Given the description of an element on the screen output the (x, y) to click on. 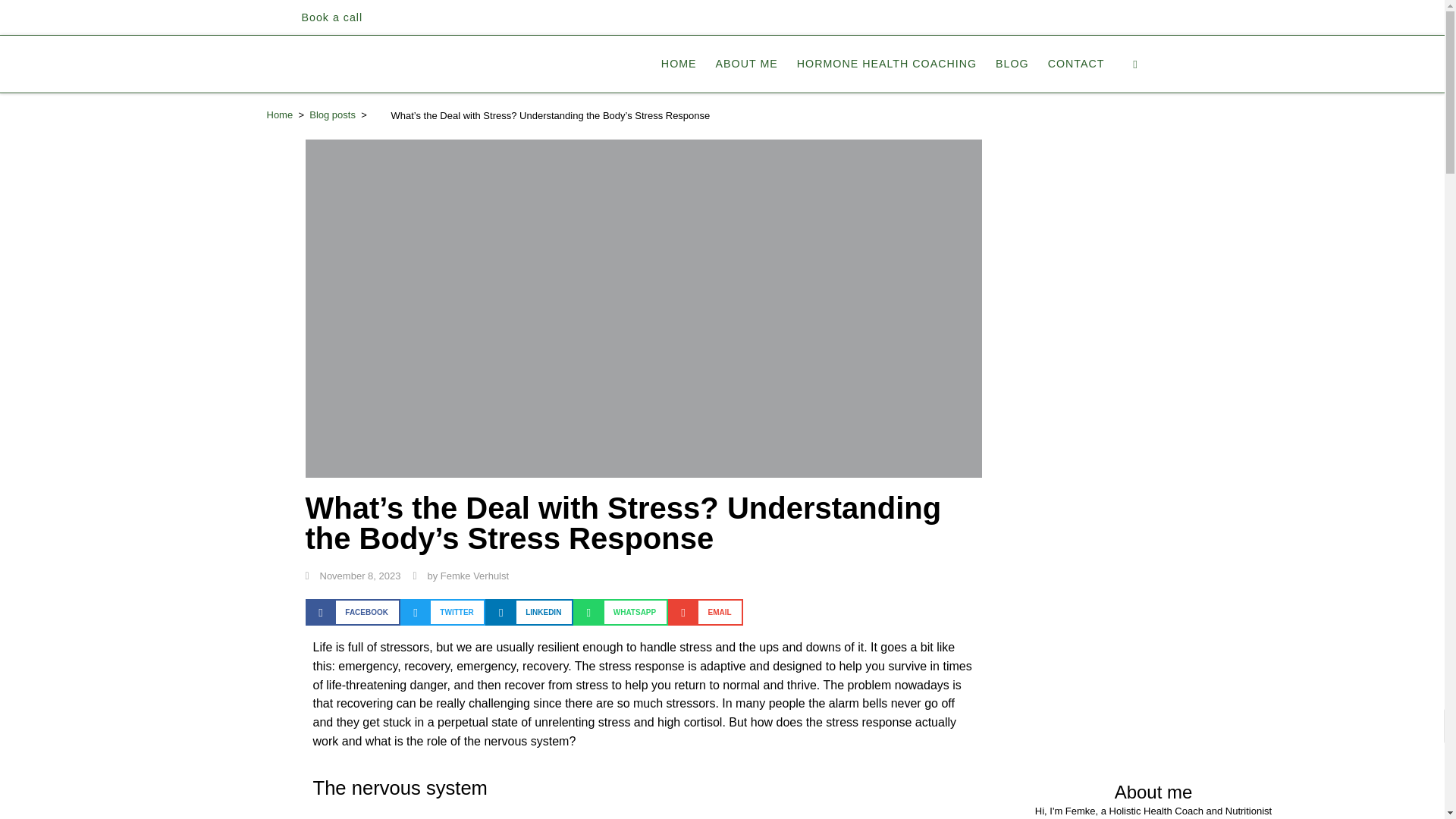
HORMONE HEALTH COACHING (886, 63)
Blog posts (331, 114)
Book a call (332, 17)
CONTACT (1075, 63)
November 8, 2023 (352, 575)
HOME (678, 63)
ABOUT ME (746, 63)
BLOG (1012, 63)
Skip to content (60, 20)
Home (280, 114)
